Given the description of an element on the screen output the (x, y) to click on. 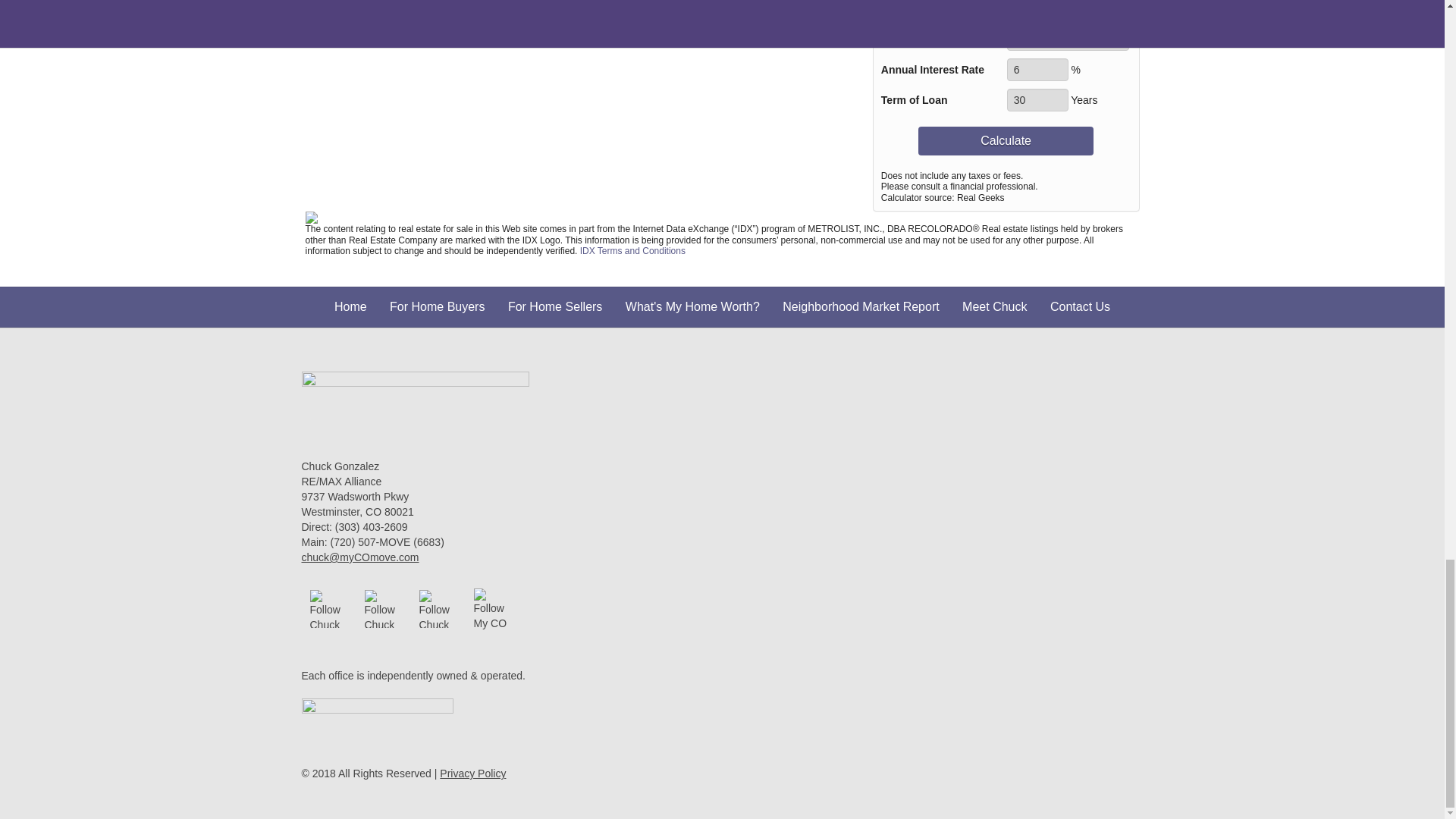
30 (1037, 99)
799000 (1068, 38)
6 (1037, 69)
